Given the description of an element on the screen output the (x, y) to click on. 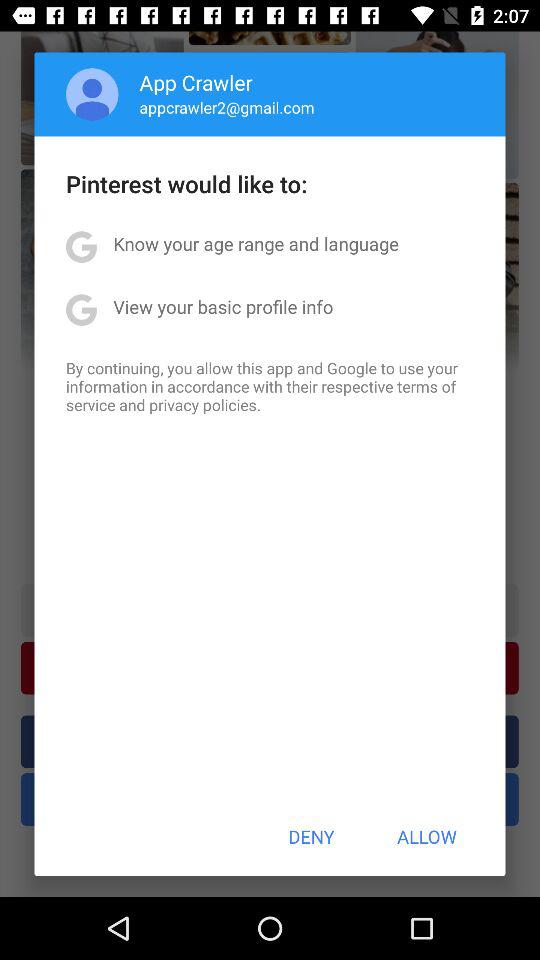
press the app below by continuing you icon (311, 836)
